Given the description of an element on the screen output the (x, y) to click on. 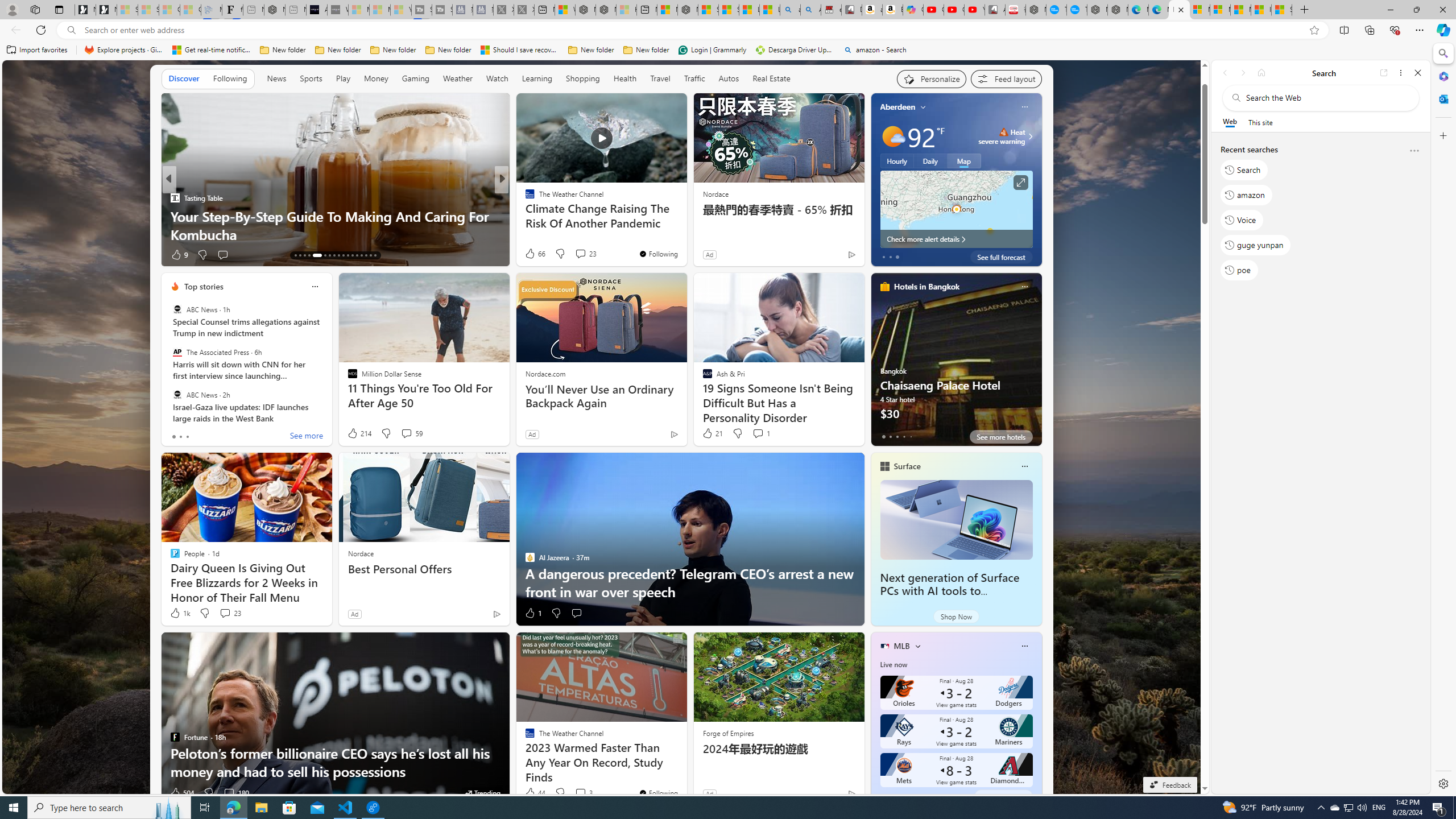
Customize (1442, 135)
1 Like (532, 612)
guge yunpan (1255, 245)
AutomationID: tab-14 (299, 255)
AutomationID: tab-23 (347, 255)
tab-3 (903, 795)
View comments 3 Comment (582, 792)
View comments 7 Comment (583, 254)
361 Like (532, 254)
